Given the description of an element on the screen output the (x, y) to click on. 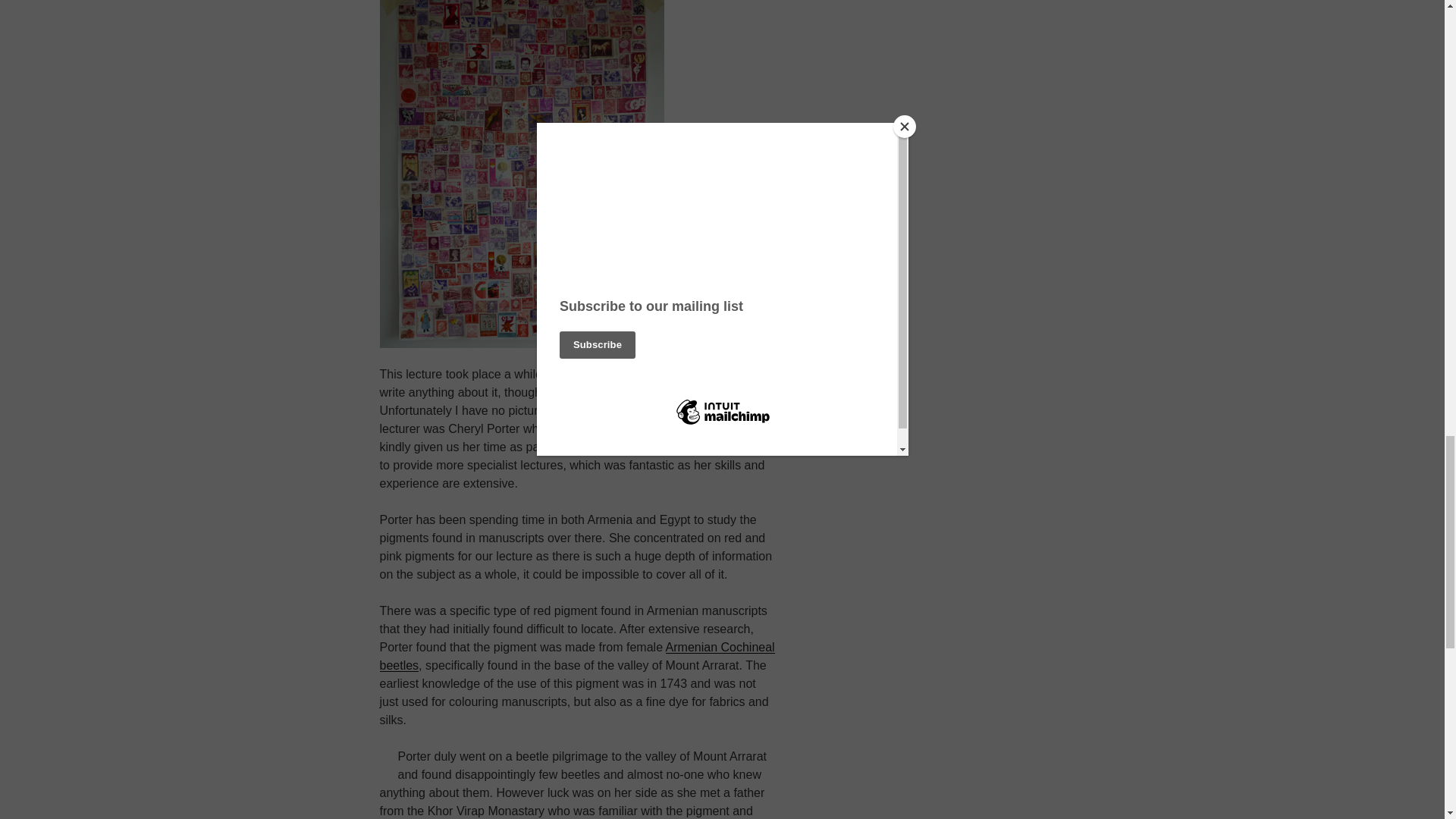
Armenian Cochineal beetles (576, 655)
Book and Paper ICON Group (662, 446)
